Given the description of an element on the screen output the (x, y) to click on. 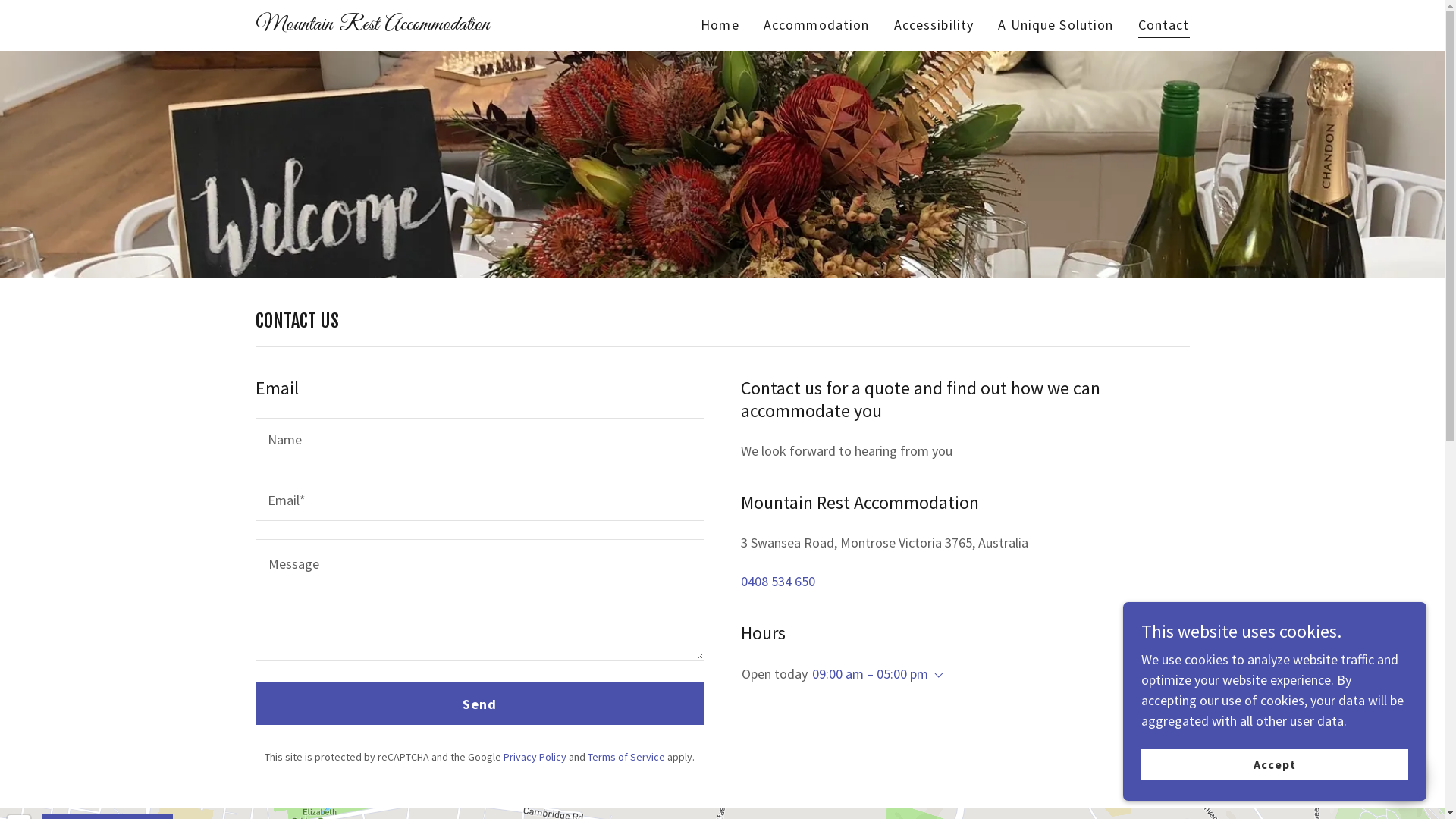
Privacy Policy Element type: text (534, 756)
Contact Element type: text (1163, 26)
Send Element type: text (478, 703)
Accommodation Element type: text (816, 24)
Accept Element type: text (1274, 764)
A Unique Solution Element type: text (1055, 24)
Accessibility Element type: text (934, 24)
Terms of Service Element type: text (626, 756)
Mountain Rest Accommodation Element type: text (396, 24)
Home Element type: text (719, 24)
0408 534 650 Element type: text (777, 580)
